Given the description of an element on the screen output the (x, y) to click on. 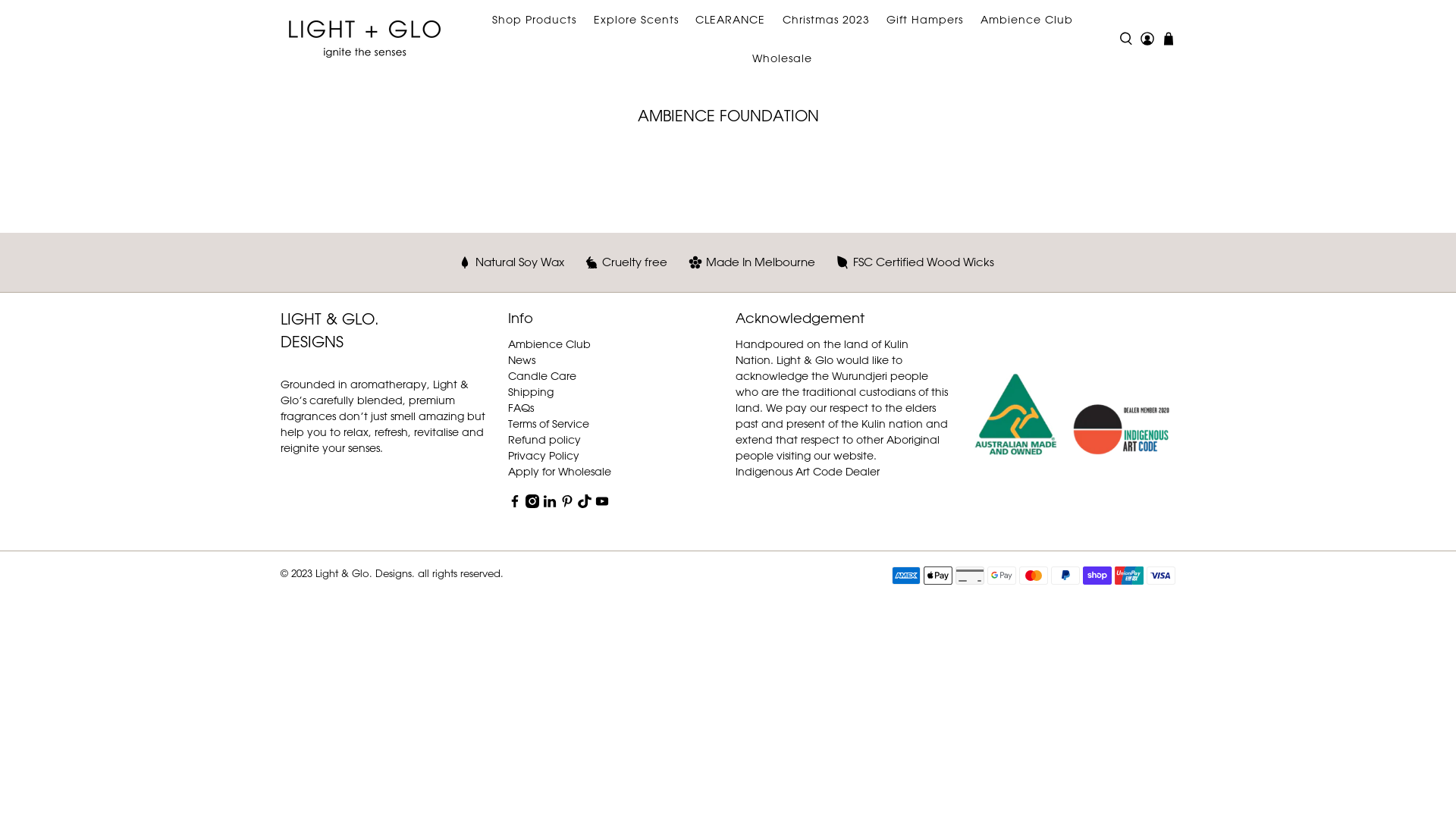
Light & Glo. Designs Element type: text (363, 571)
CLEARANCE Element type: text (730, 19)
News Element type: text (521, 359)
Terms of Service Element type: text (548, 423)
Light & Glo. Designs on LinkedIn Element type: hover (549, 503)
Apply for Wholesale Element type: text (559, 470)
Gift Hampers Element type: text (925, 19)
Ambience Club Element type: text (1026, 19)
FAQs Element type: text (520, 406)
Light & Glo. Designs on TikTok Element type: hover (584, 503)
Christmas 2023 Element type: text (825, 19)
Explore Scents Element type: text (635, 19)
Ambience Club Element type: text (549, 342)
Wholesale Element type: text (782, 57)
Shipping Element type: text (530, 391)
Shop Products Element type: text (534, 19)
Light & Glo. Designs on Facebook Element type: hover (514, 503)
Light & Glo. Designs on Pinterest Element type: hover (567, 503)
Refund policy Element type: text (544, 438)
Light & Glo. Designs Element type: hover (1069, 421)
LIGHT & GLO. DESIGNS Element type: text (343, 341)
Light & Glo. Designs Element type: hover (364, 37)
Light & Glo. Designs on Instagram Element type: hover (532, 503)
Privacy Policy Element type: text (543, 454)
Candle Care Element type: text (542, 374)
Light & Glo. Designs on YouTube Element type: hover (601, 503)
